Given the description of an element on the screen output the (x, y) to click on. 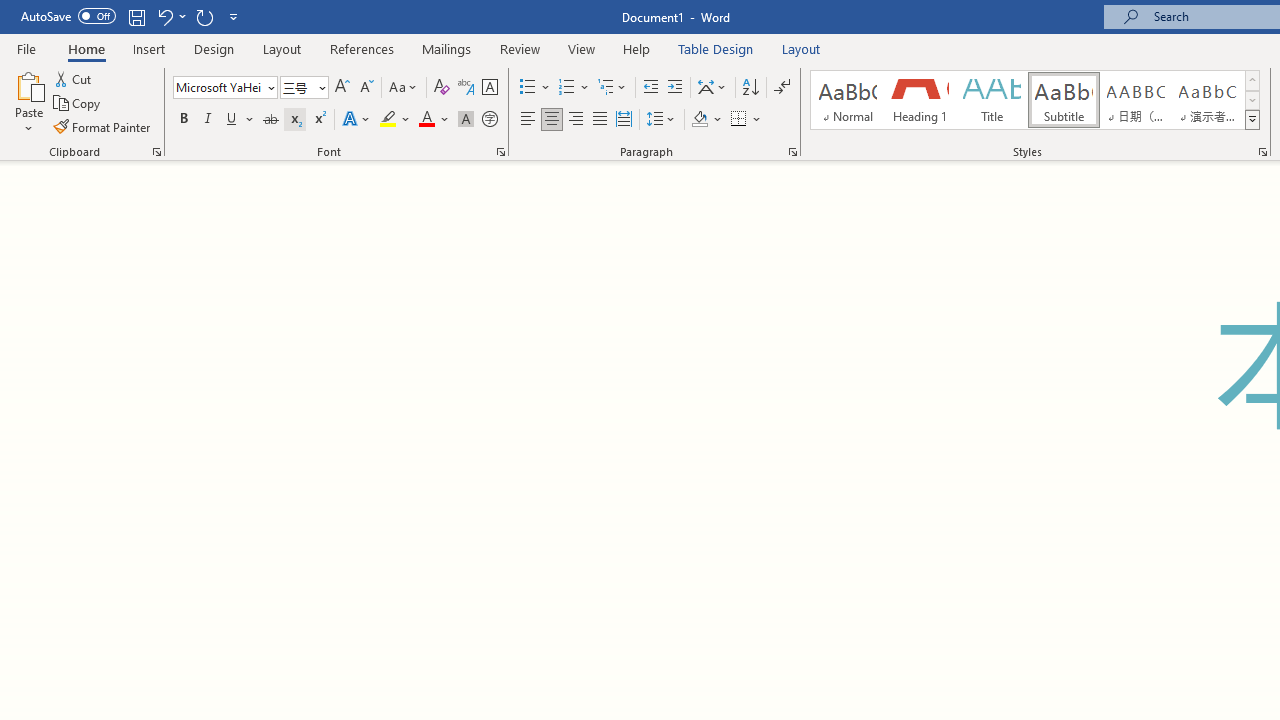
Undo Subscript (170, 15)
